Given the description of an element on the screen output the (x, y) to click on. 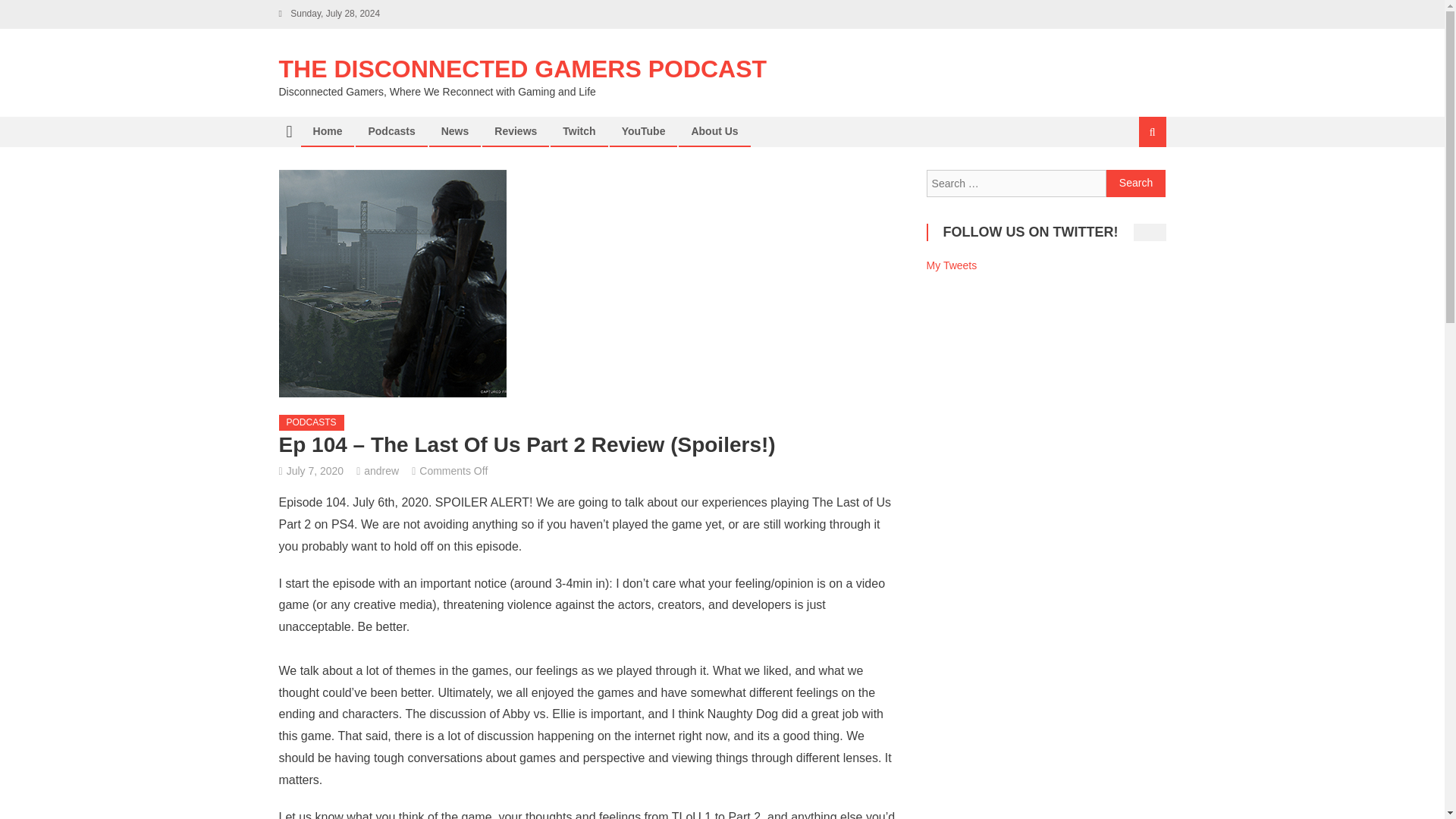
YouTube (643, 131)
Search (1136, 183)
About Us (714, 131)
Twitch (579, 131)
Search (1133, 182)
News (454, 131)
andrew (381, 470)
Podcasts (391, 131)
THE DISCONNECTED GAMERS PODCAST (523, 68)
Search (1136, 183)
PODCASTS (311, 422)
July 7, 2020 (314, 470)
Reviews (515, 131)
Home (327, 131)
